Given the description of an element on the screen output the (x, y) to click on. 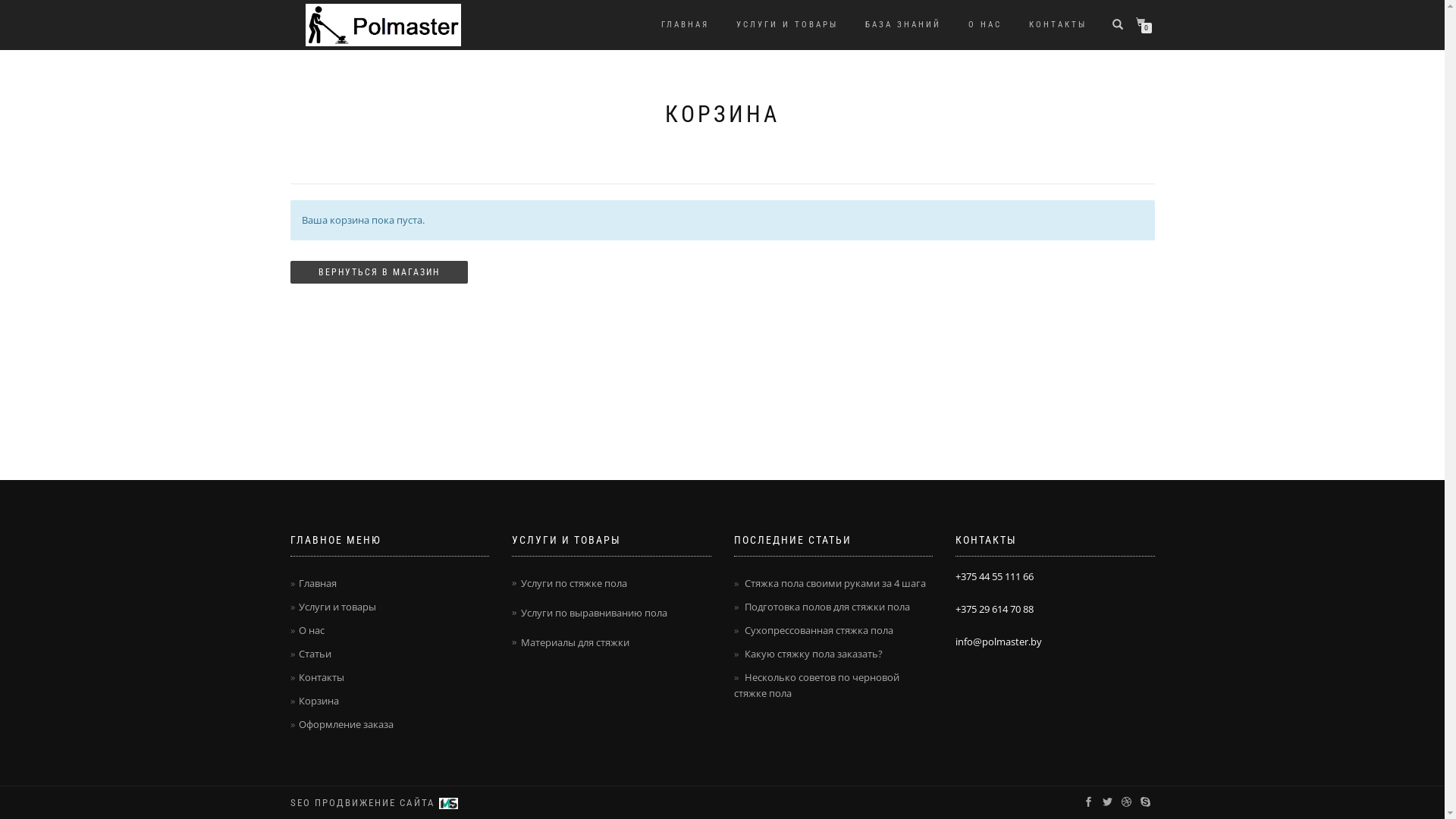
0 Element type: text (1143, 23)
